Given the description of an element on the screen output the (x, y) to click on. 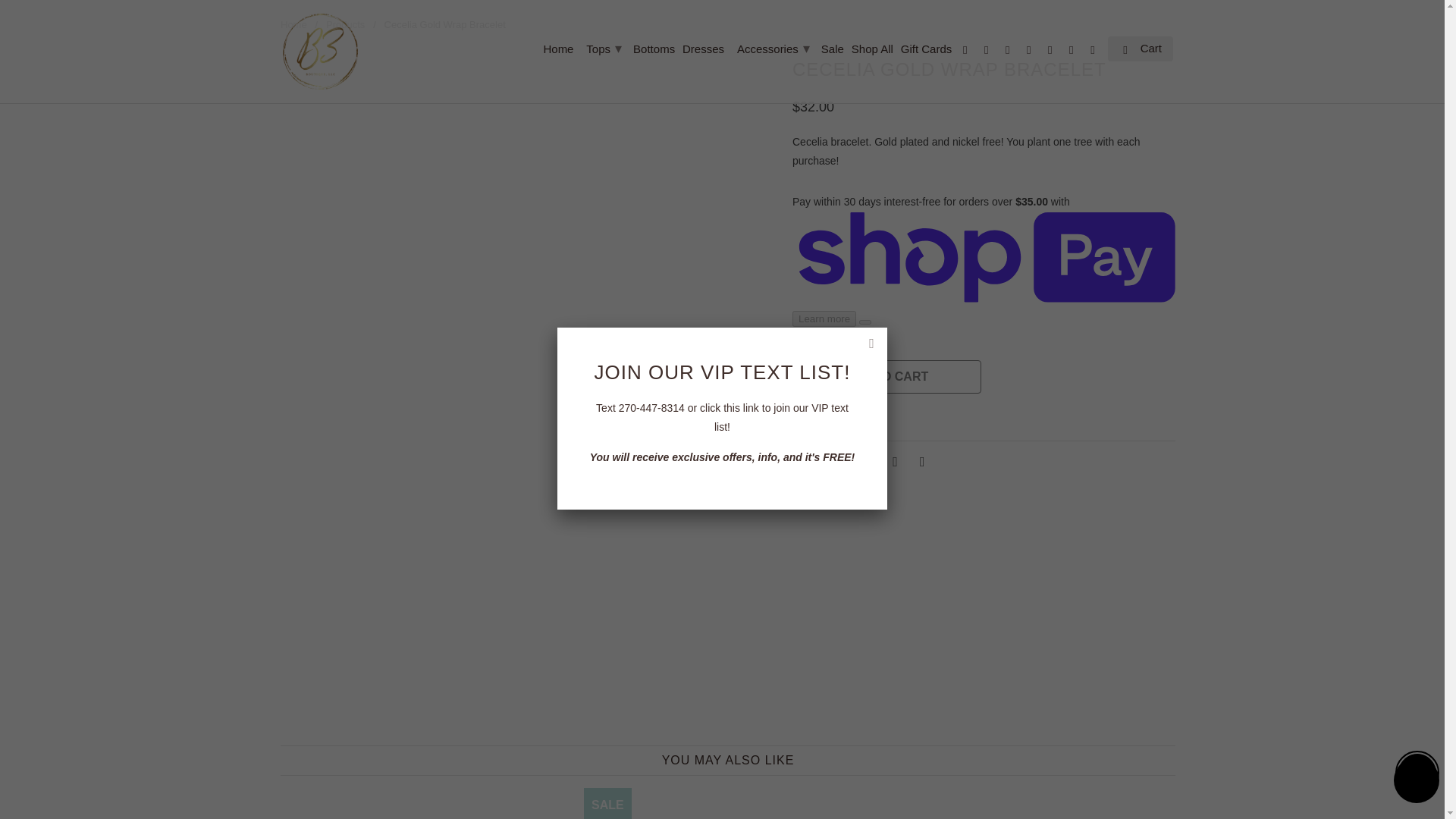
Share this on Twitter (838, 460)
B3 Boutique, LLC (320, 51)
Cecelia Gold Wrap Bracelet - B3 Boutique, LLC (528, 62)
Share this on Facebook (865, 460)
B3 Boutique, LLC (294, 24)
Home (558, 51)
Products (345, 24)
